Given the description of an element on the screen output the (x, y) to click on. 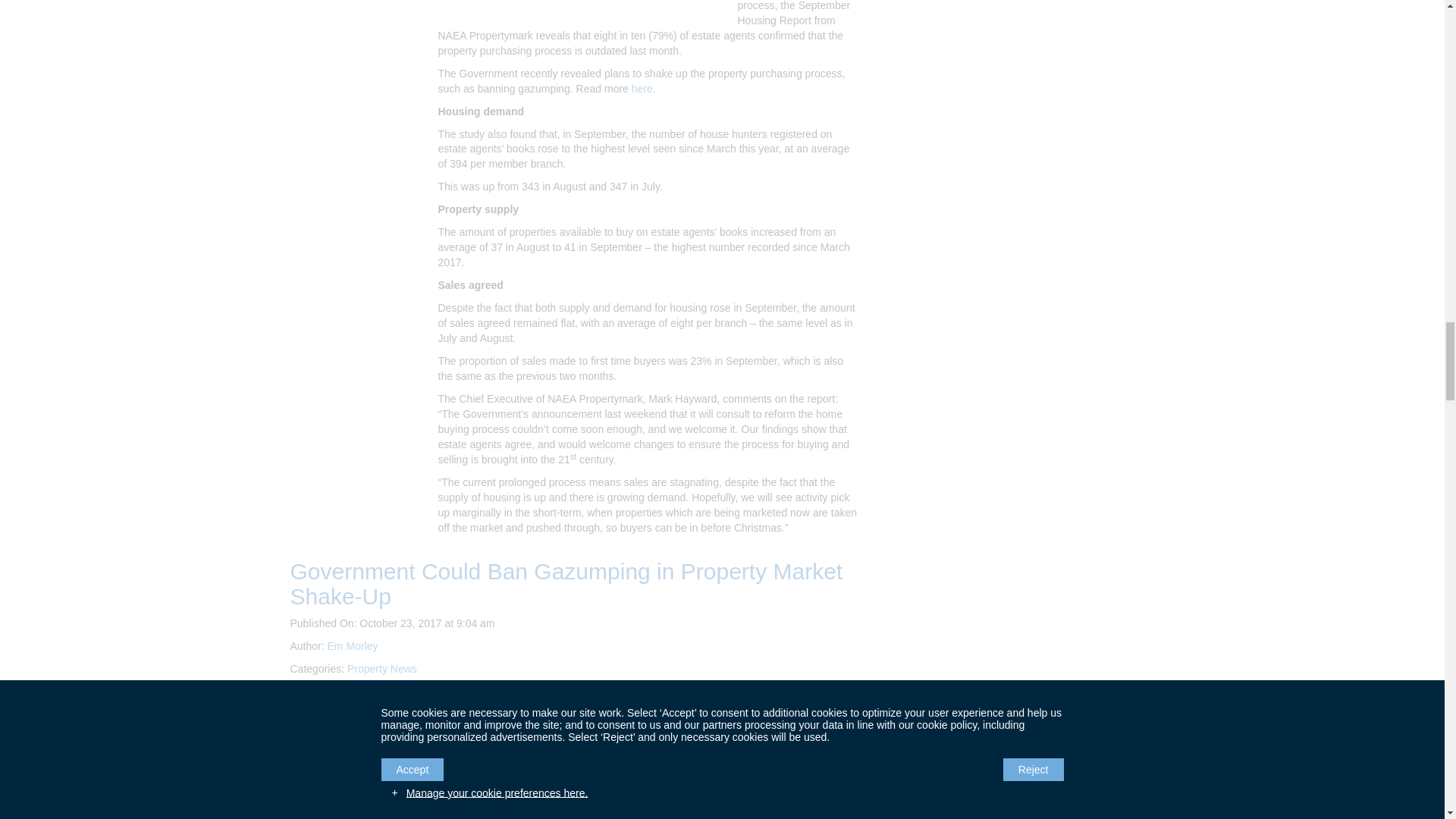
Posts by Em Morley (352, 645)
